Given the description of an element on the screen output the (x, y) to click on. 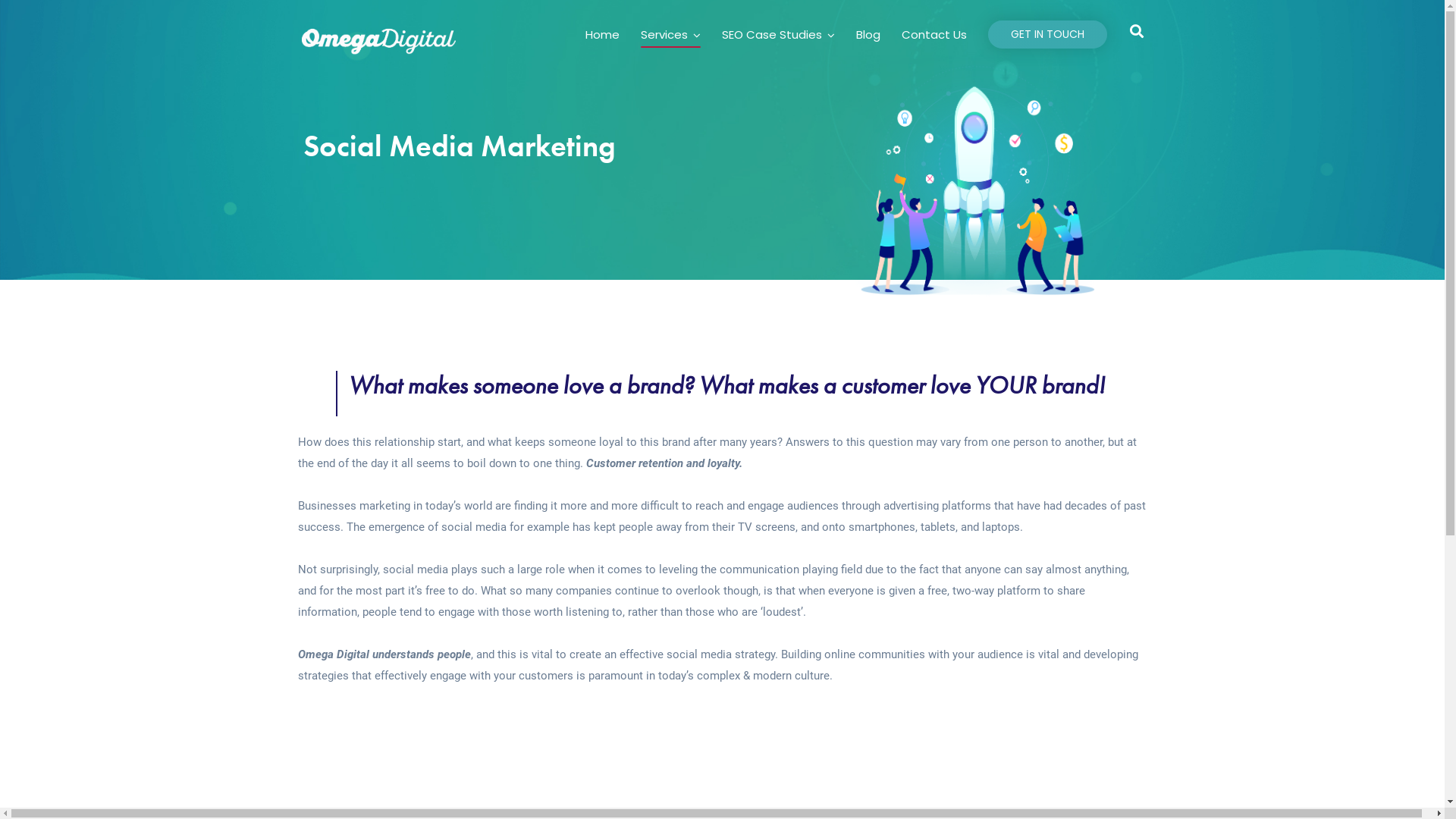
Contact Us Element type: text (933, 36)
Services Element type: text (669, 36)
SEO Case Studies Element type: text (777, 36)
Social Media Marketing 6 Element type: hover (974, 175)
Blog Element type: text (867, 36)
Home Element type: text (602, 36)
GET IN TOUCH Element type: text (1046, 34)
